Given the description of an element on the screen output the (x, y) to click on. 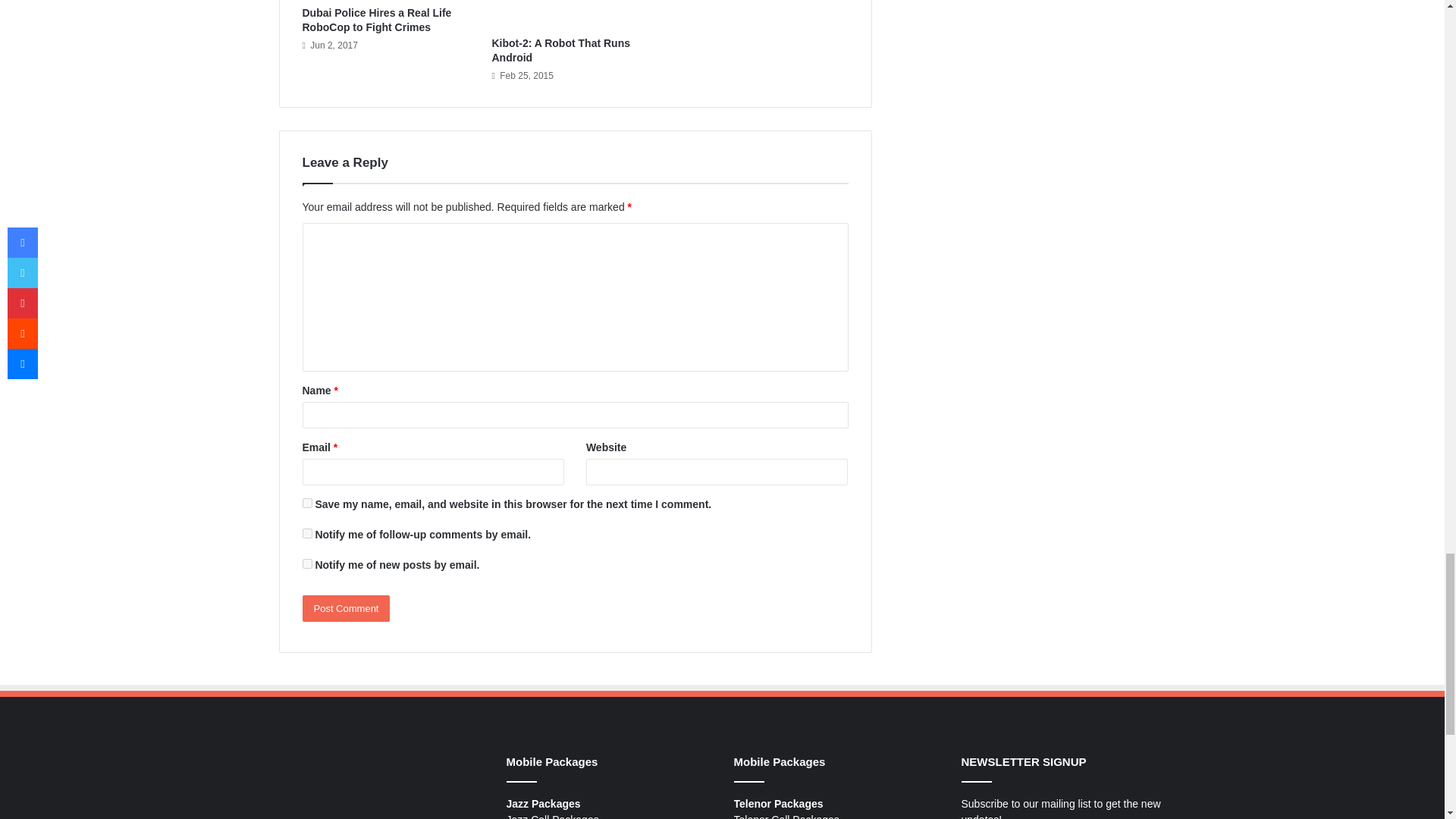
yes (306, 502)
subscribe (306, 563)
Post Comment (345, 608)
subscribe (306, 533)
